Given the description of an element on the screen output the (x, y) to click on. 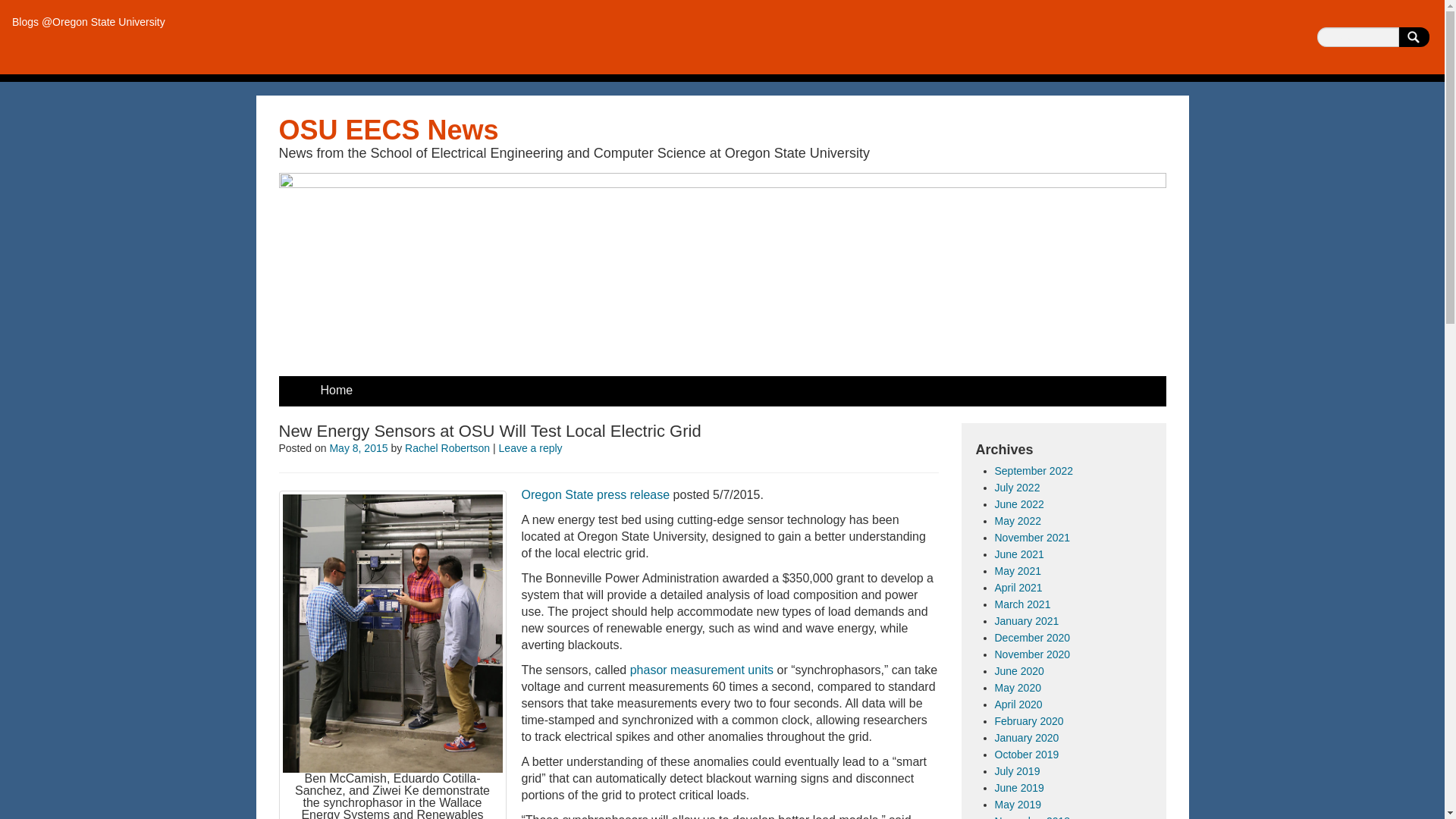
December 2020 (1032, 637)
Skip to primary content (341, 384)
Rachel Robertson (446, 448)
Oregon State press release (595, 494)
March 2021 (1022, 604)
phasor measurement units (701, 669)
June 2020 (1018, 671)
June 2022 (1018, 503)
Leave a reply (530, 448)
